Given the description of an element on the screen output the (x, y) to click on. 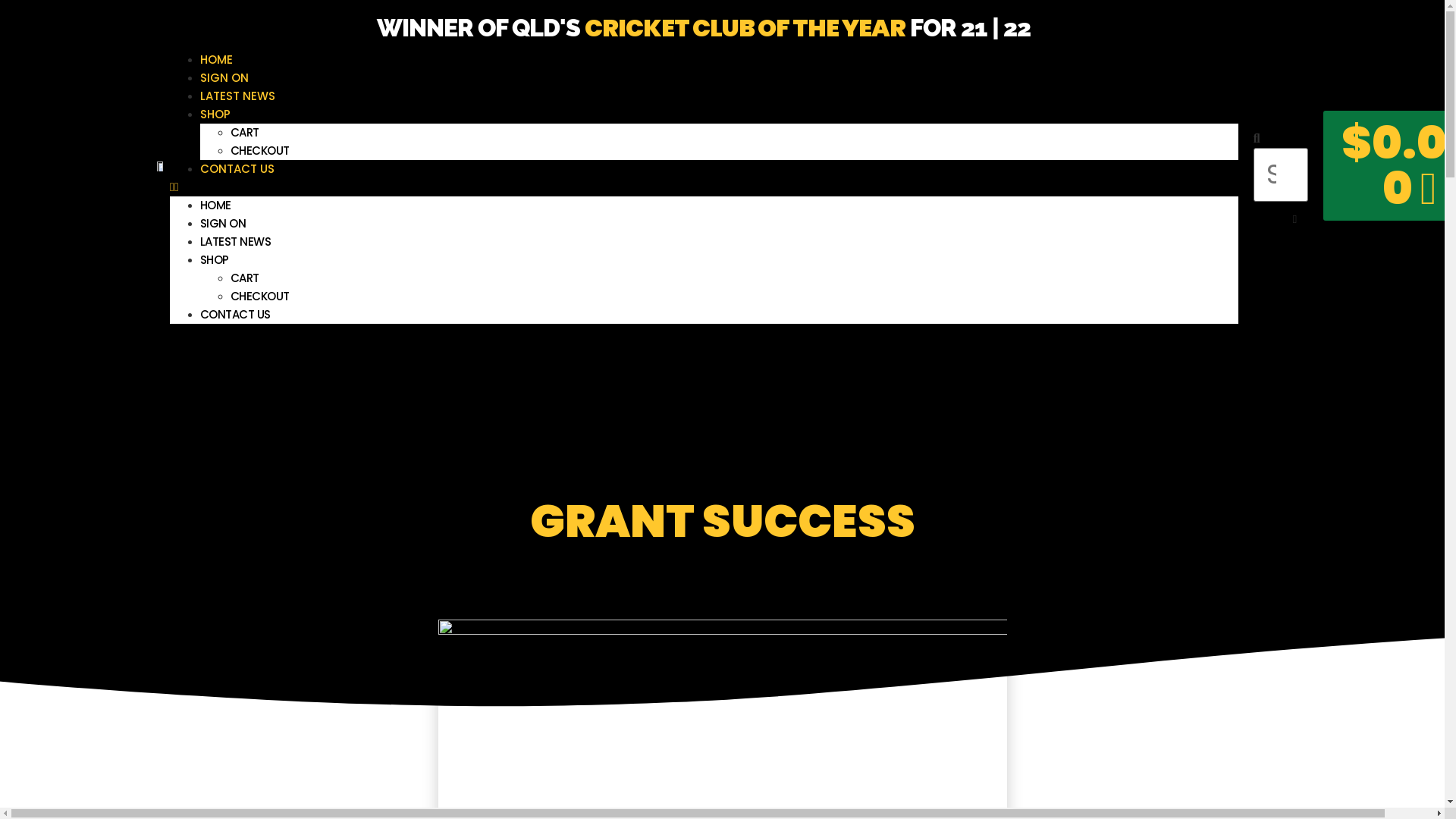
SHOP Element type: text (215, 113)
CONTACT US Element type: text (237, 168)
HOME Element type: text (216, 59)
CART Element type: text (244, 132)
HOME Element type: text (215, 205)
LATEST NEWS Element type: text (237, 95)
SIGN ON Element type: text (223, 223)
SHOP Element type: text (214, 259)
CHECKOUT Element type: text (259, 296)
CONTACT US Element type: text (235, 314)
CART Element type: text (244, 277)
SIGN ON Element type: text (224, 77)
LATEST NEWS Element type: text (235, 241)
CHECKOUT Element type: text (259, 150)
